Given the description of an element on the screen output the (x, y) to click on. 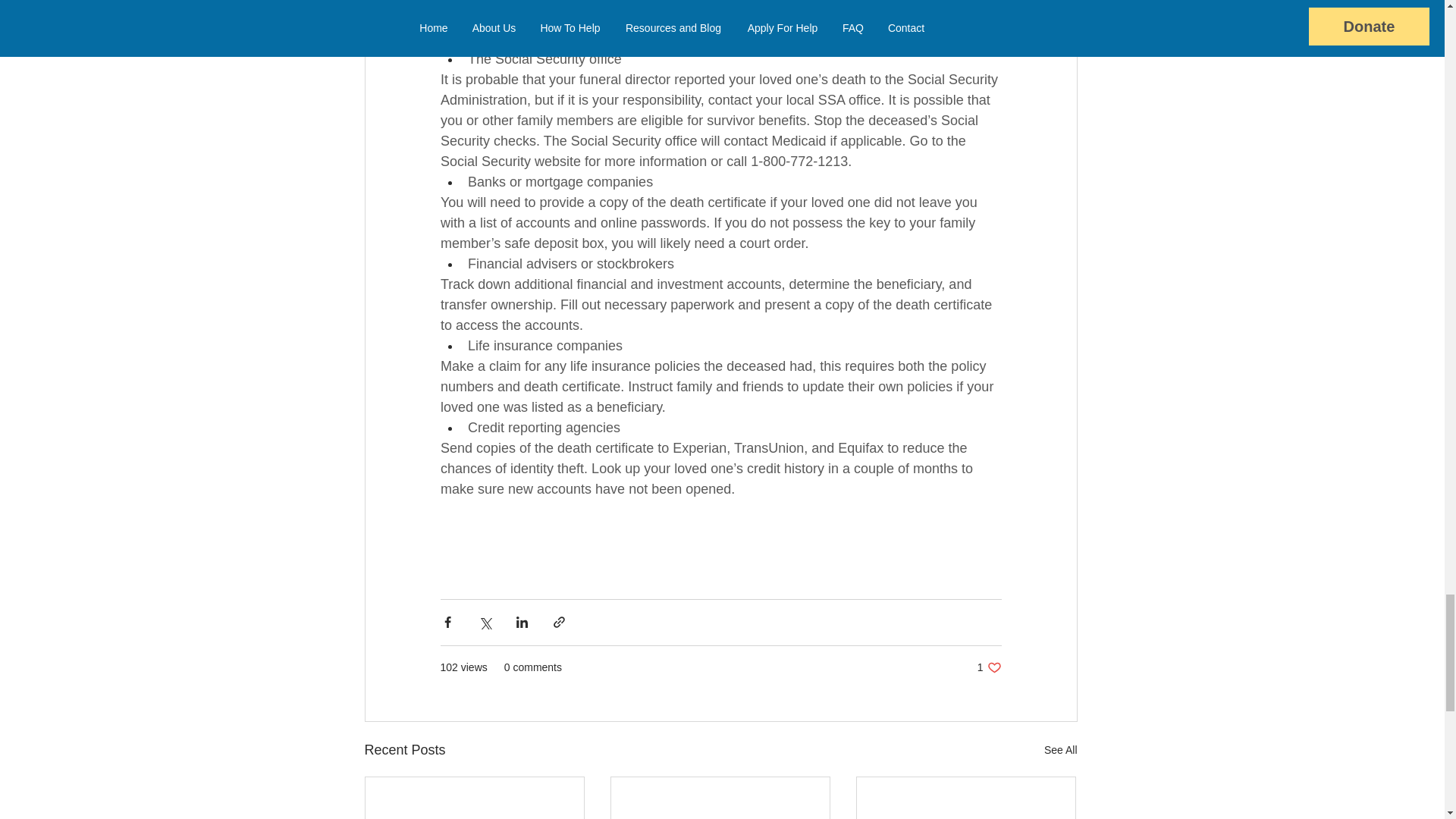
See All (988, 667)
